Given the description of an element on the screen output the (x, y) to click on. 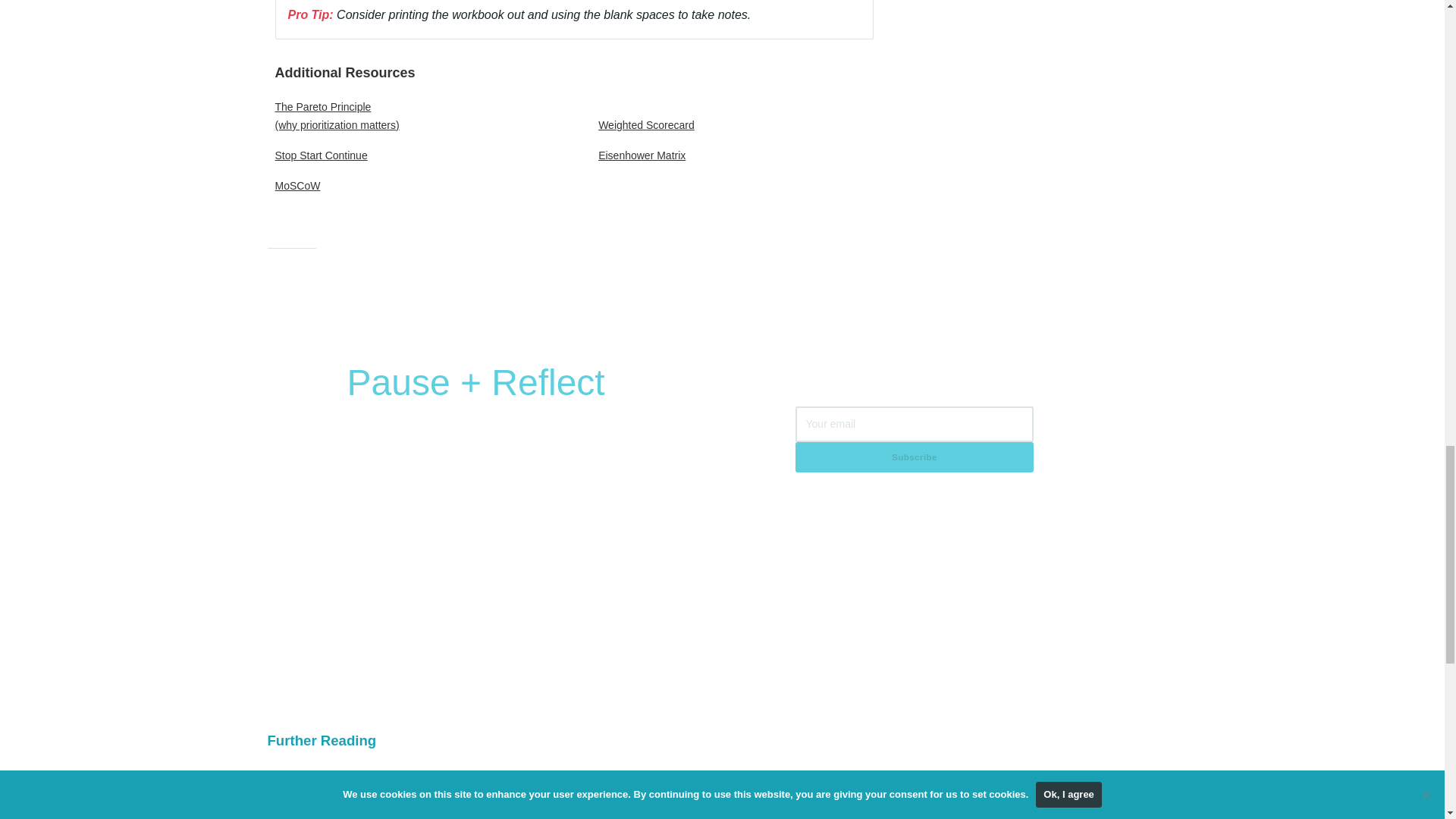
Weighted Scorecard (735, 125)
Subscribe (913, 457)
MoSCoW (412, 185)
Eisenhower Matrix (735, 155)
Subscribe (913, 457)
latest issues (560, 563)
Stop Start Continue (412, 155)
